Given the description of an element on the screen output the (x, y) to click on. 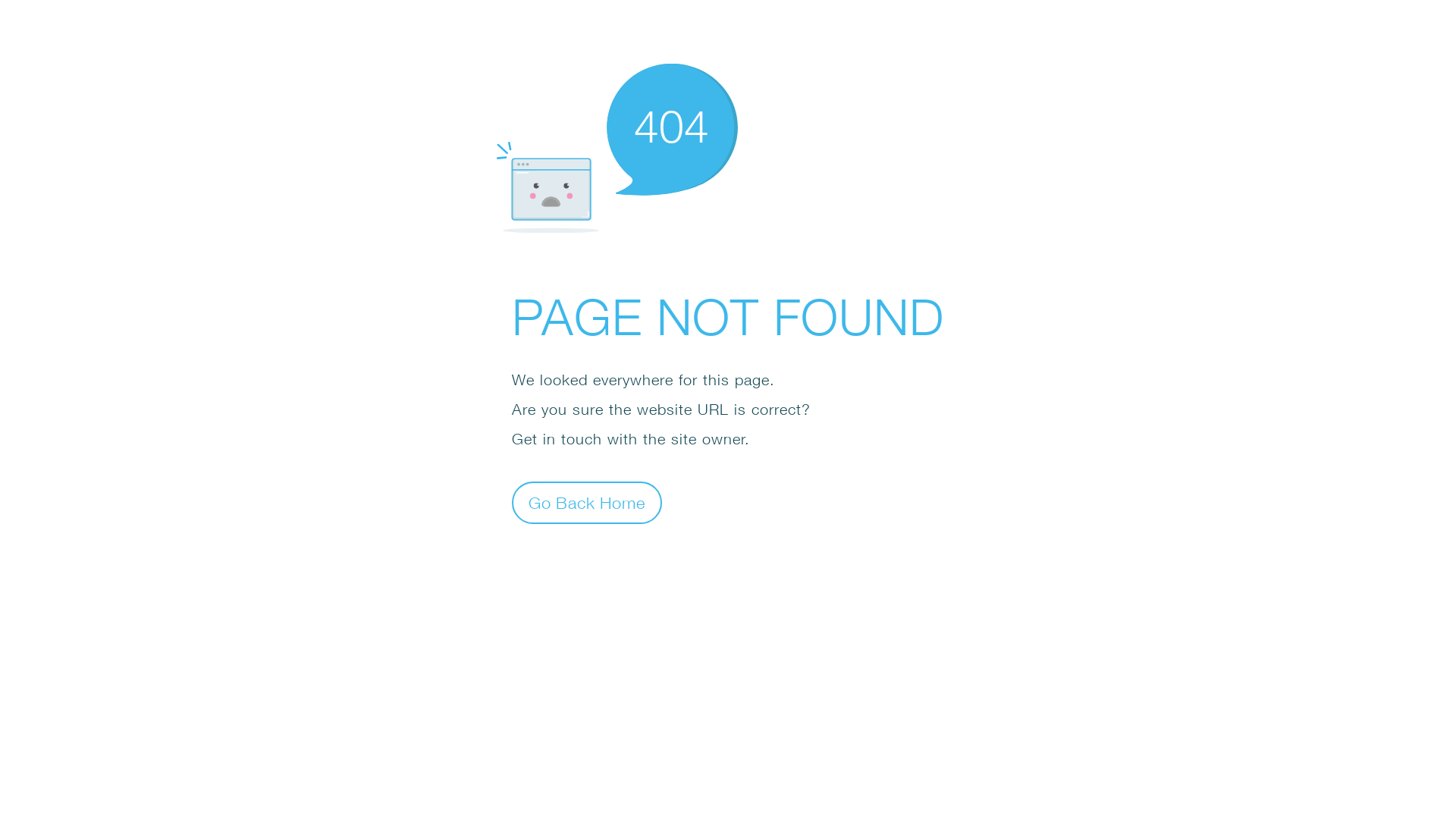
Go Back Home Element type: text (586, 502)
